Given the description of an element on the screen output the (x, y) to click on. 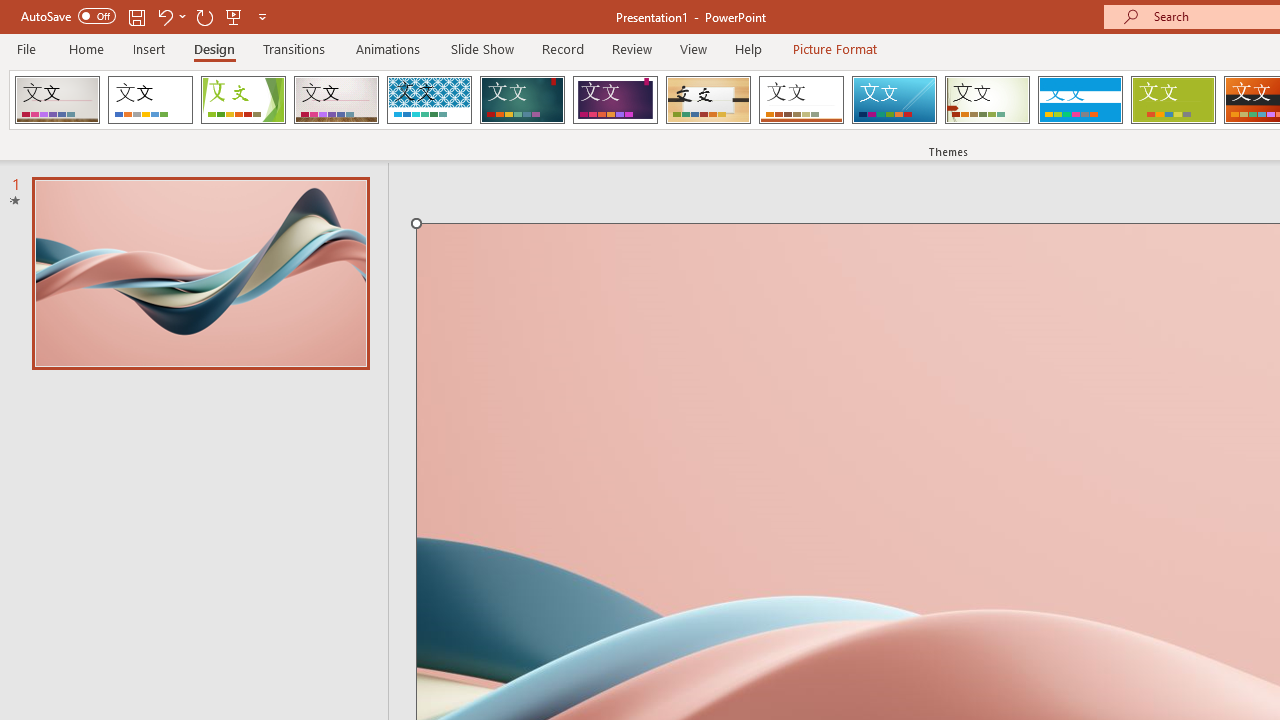
Slice (893, 100)
Picture Format (834, 48)
Facet (243, 100)
Integral (429, 100)
Retrospect (801, 100)
Ion (522, 100)
AfterglowVTI (57, 100)
